Given the description of an element on the screen output the (x, y) to click on. 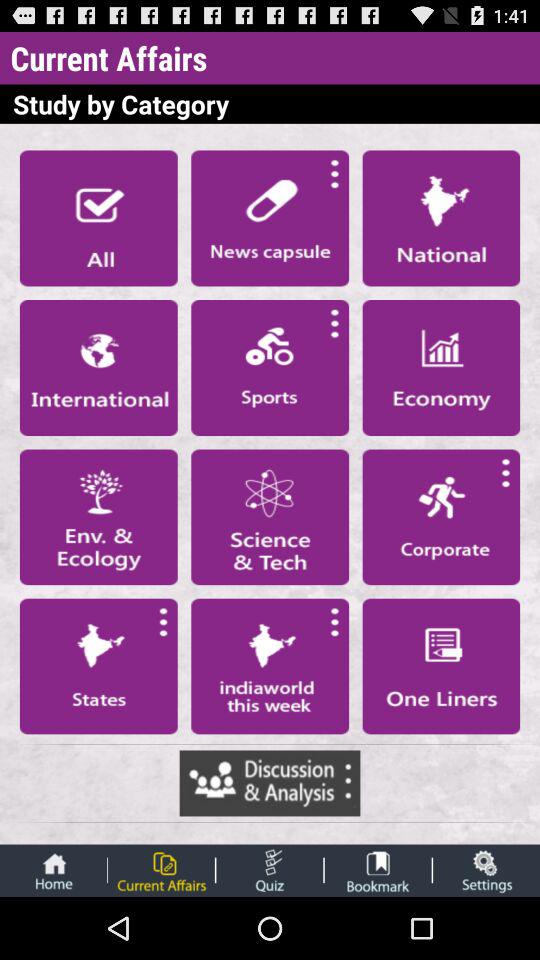
app category icon (98, 666)
